Given the description of an element on the screen output the (x, y) to click on. 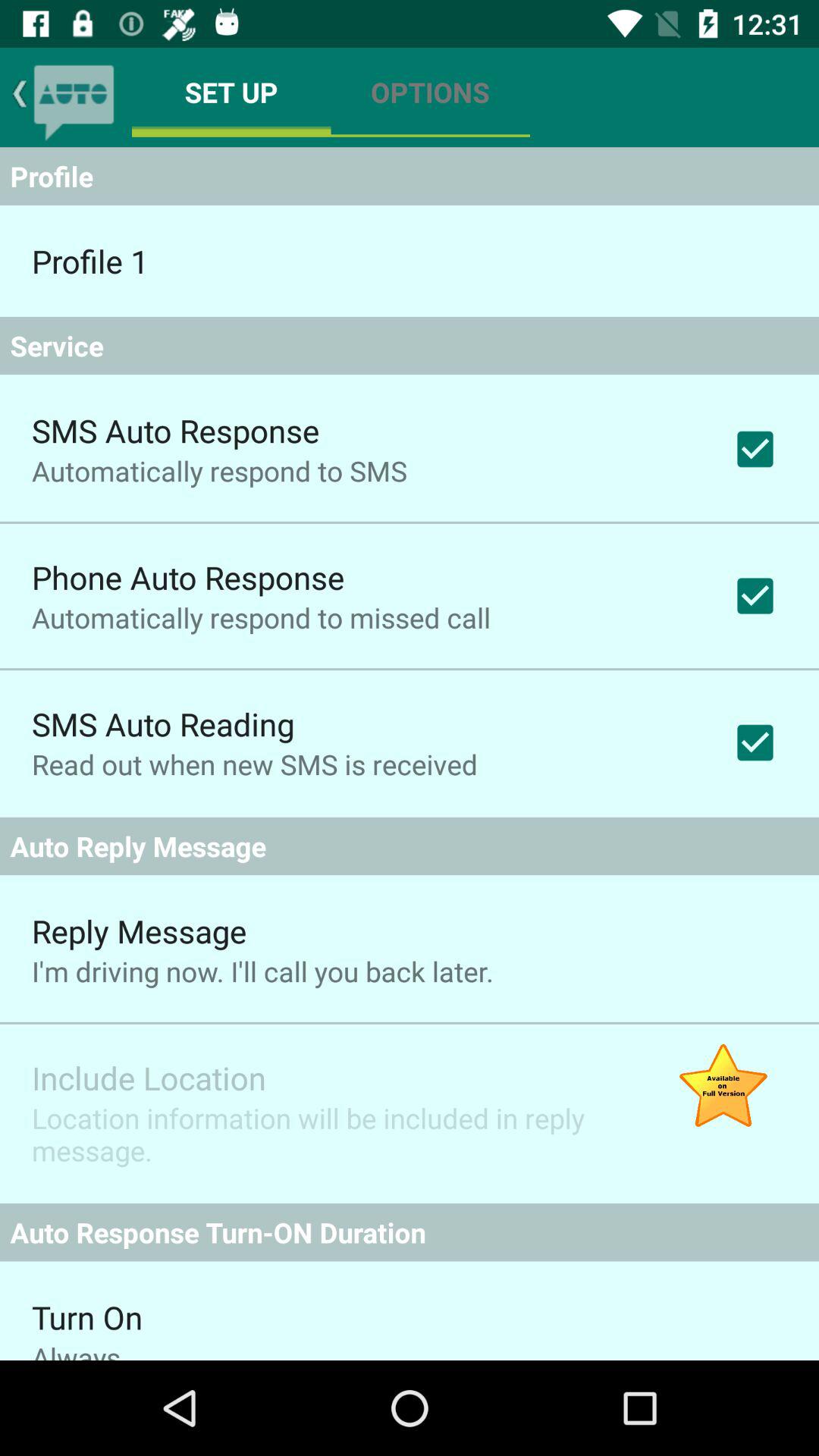
select the location information will app (329, 1134)
